Given the description of an element on the screen output the (x, y) to click on. 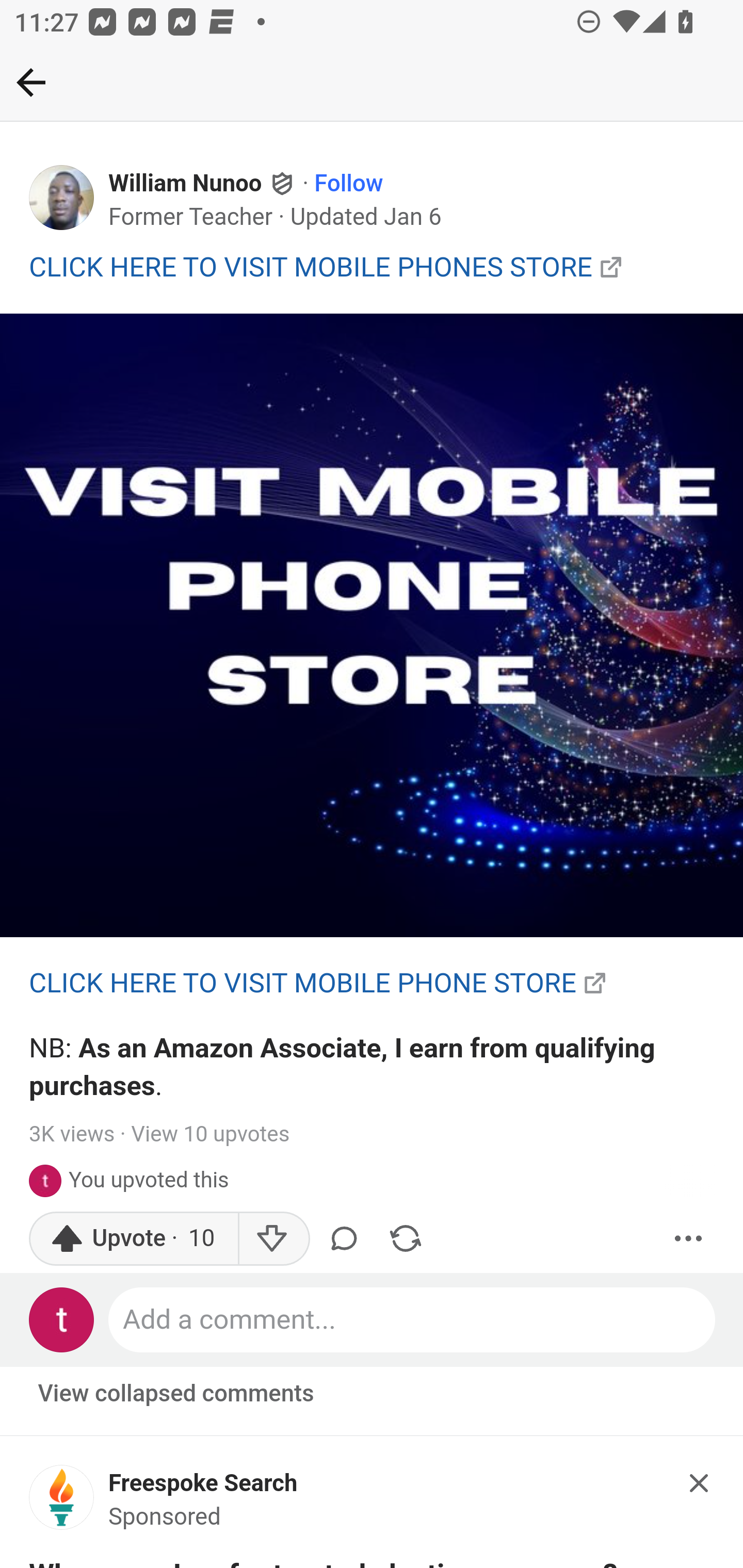
Back (30, 82)
Profile photo for William Nunoo (61, 198)
William Nunoo (185, 183)
Follow (349, 183)
Updated Jan 6 Updated  Jan 6 (365, 217)
CLICK HERE TO VISIT MOBILE PHONES STORE (310, 266)
main-qimg-e6cd300878b5859baa3a4fcd2af8e83d-pjlq (371, 626)
CLICK HERE TO VISIT MOBILE PHONE STORE (303, 982)
View 10 upvotes (210, 1133)
Profile photo for Test Appium (48, 1180)
Upvote (133, 1238)
Downvote (273, 1238)
Comment (346, 1238)
Share (405, 1238)
More (688, 1238)
Profile photo for Test Appium (61, 1319)
Add a comment... (412, 1319)
View collapsed comments (176, 1393)
Hide (699, 1483)
main-qimg-784c0b59c1772b60fd46a882711c92a8 (61, 1502)
Freespoke Search (202, 1483)
Sponsored (165, 1517)
